Given the description of an element on the screen output the (x, y) to click on. 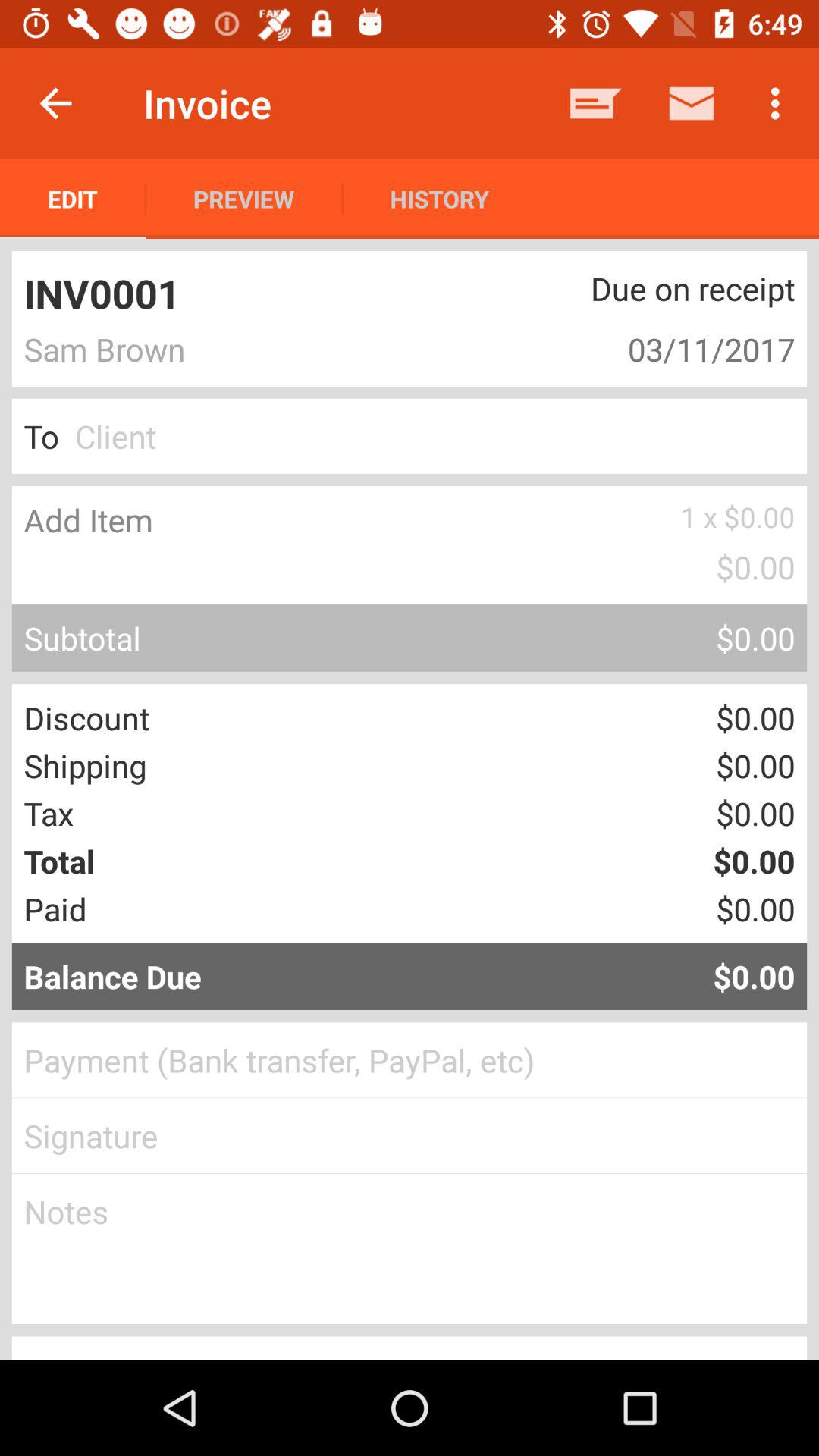
edit the notes field (409, 1248)
